Given the description of an element on the screen output the (x, y) to click on. 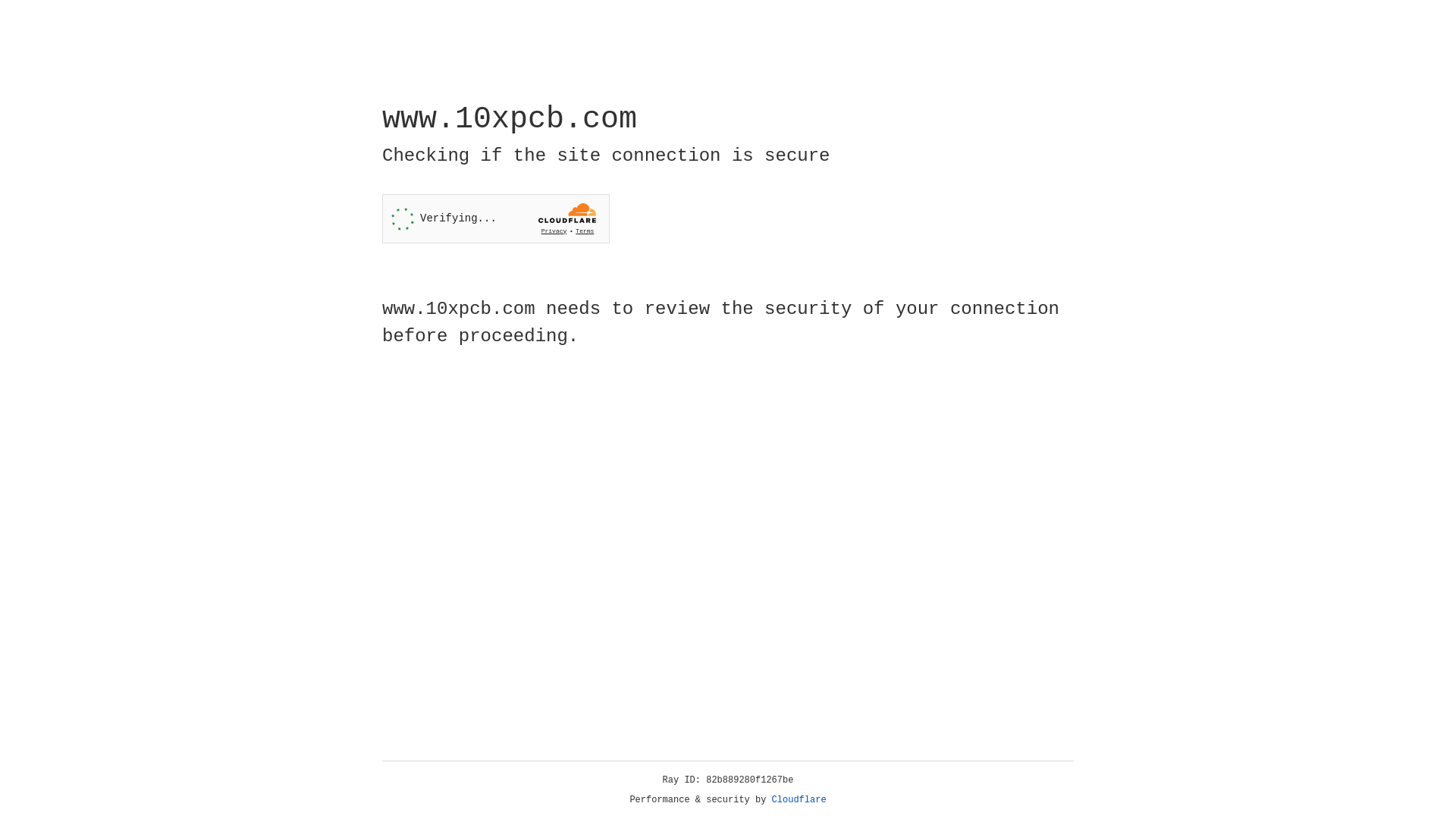
Widget containing a Cloudflare security challenge Element type: hover (495, 218)
Cloudflare Element type: text (798, 799)
